Given the description of an element on the screen output the (x, y) to click on. 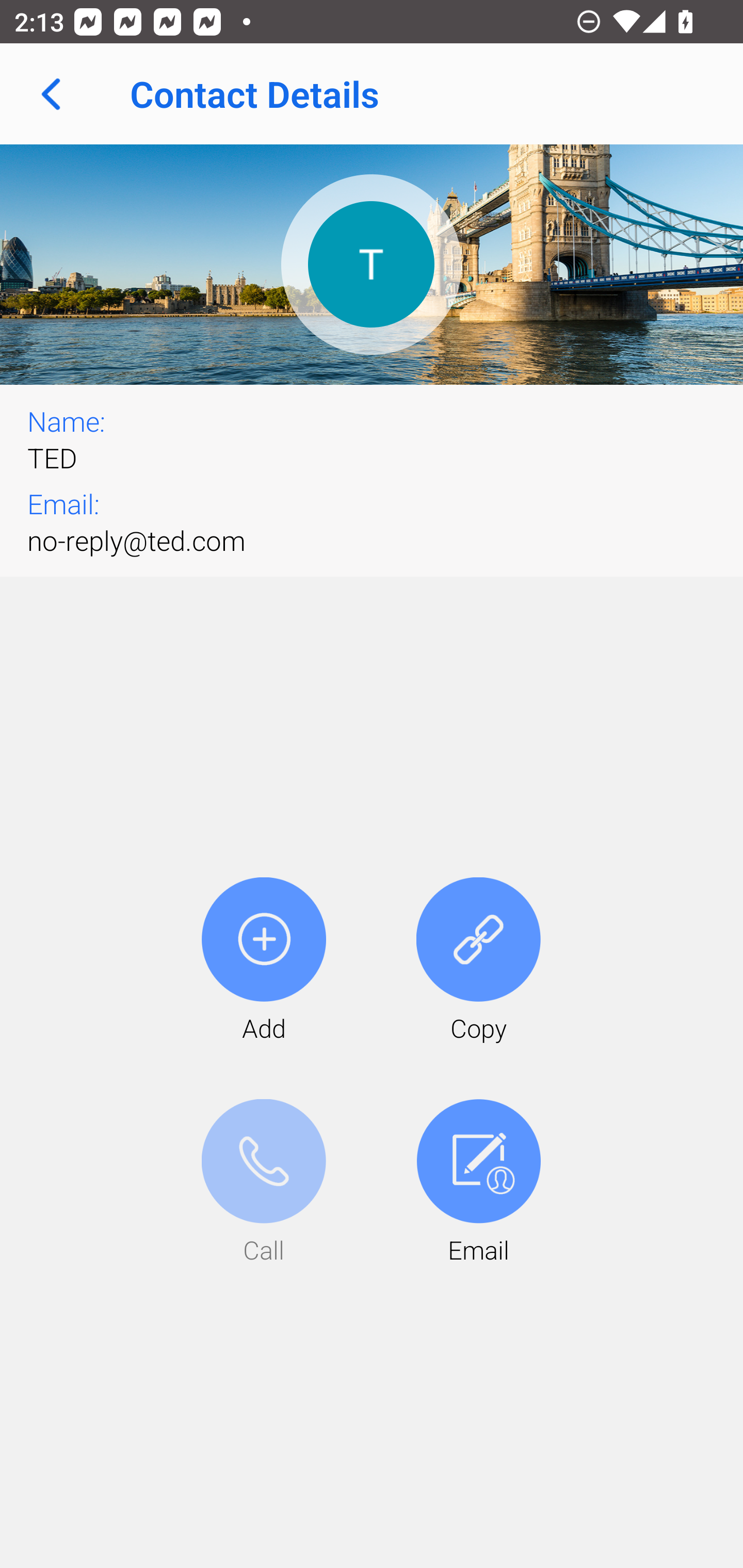
Navigate up (50, 93)
Add (264, 961)
Copy (478, 961)
Call (264, 1182)
Email (478, 1182)
